Given the description of an element on the screen output the (x, y) to click on. 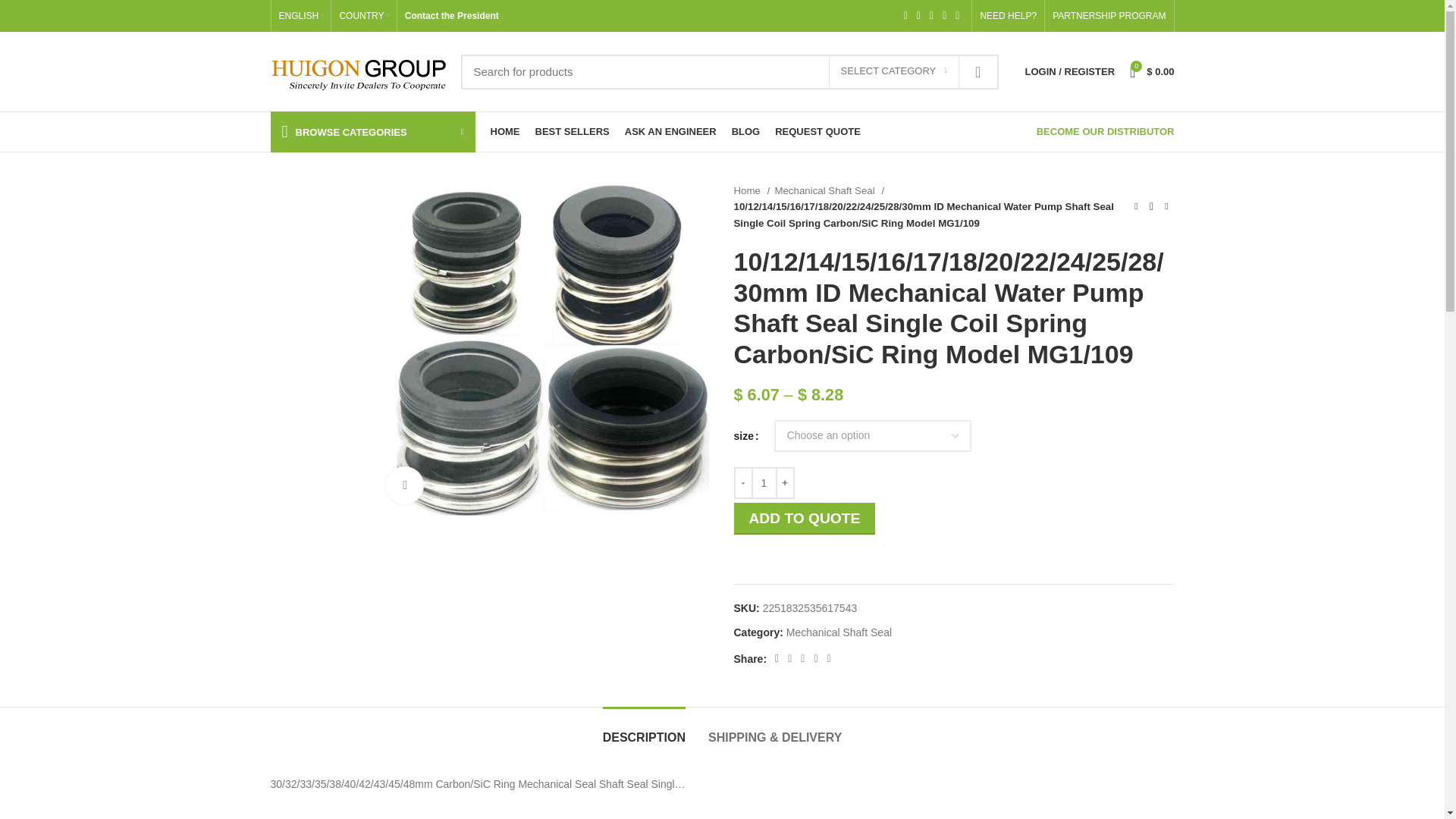
Contact the President (451, 15)
10 12 14 15 16 17 18 20 22 24 25 28 30mm ID Mechanical Water (542, 348)
ENGLISH (300, 15)
- (742, 482)
PARTNERSHIP PROGRAM (1109, 15)
Qty (763, 482)
NEED HELP? (1007, 15)
Shopping cart (1151, 71)
1 (763, 482)
SELECT CATEGORY (893, 71)
Search for products (729, 71)
SELECT CATEGORY (893, 71)
